Given the description of an element on the screen output the (x, y) to click on. 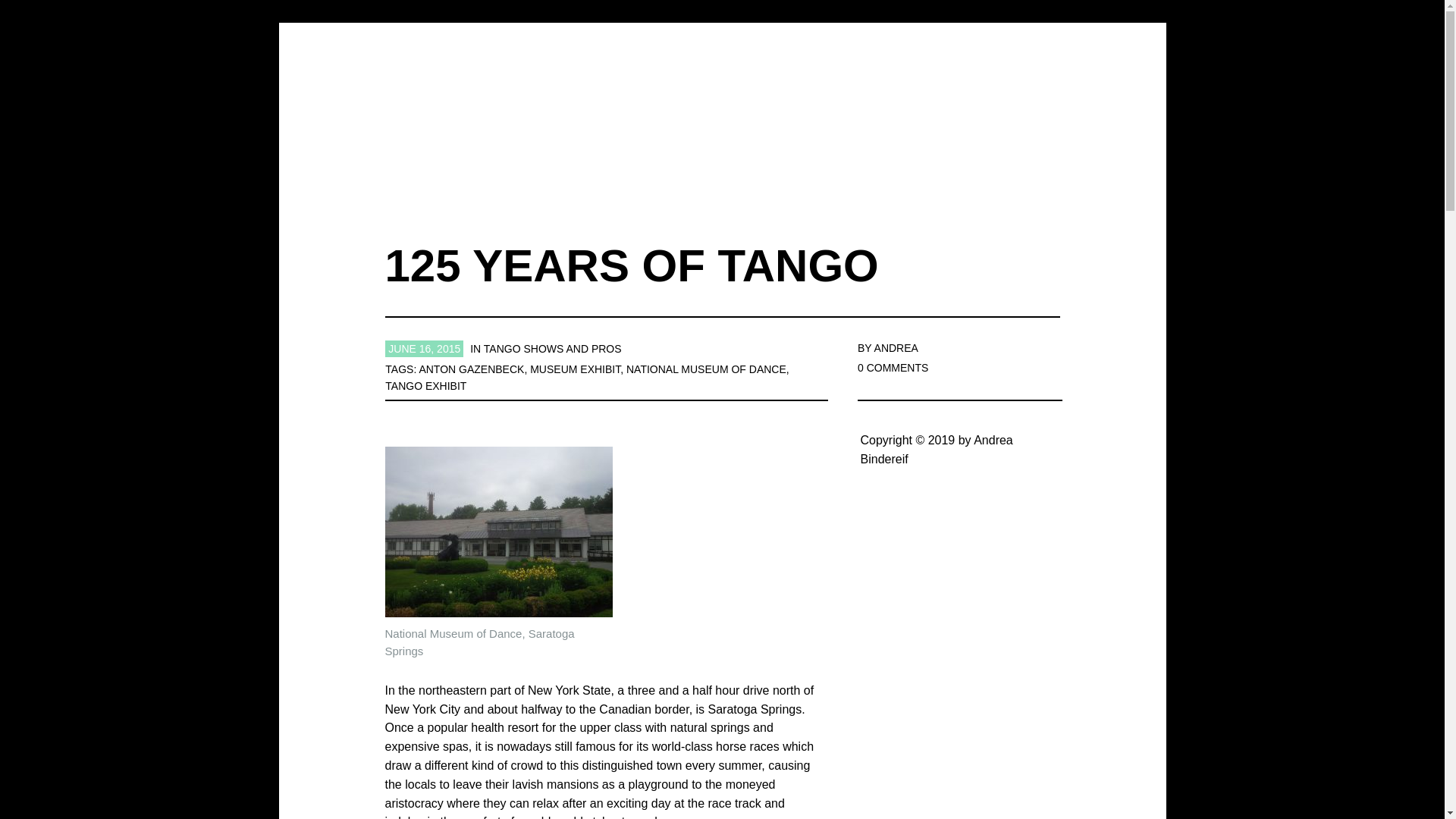
Skip to content (733, 141)
TANGO SHOWS AND PROS (552, 348)
Other Stories (873, 150)
Tango Stories (742, 150)
NATIONAL MUSEUM OF DANCE (706, 369)
Foto: CW (498, 531)
TANGO EXHIBIT (425, 386)
ANTON GAZENBECK (471, 369)
Home (467, 150)
ANDREA'S TANGO SITE (729, 84)
MUSEUM EXHIBIT (574, 369)
Book (636, 150)
ANDREA (896, 347)
About (552, 150)
Contact (986, 150)
